Given the description of an element on the screen output the (x, y) to click on. 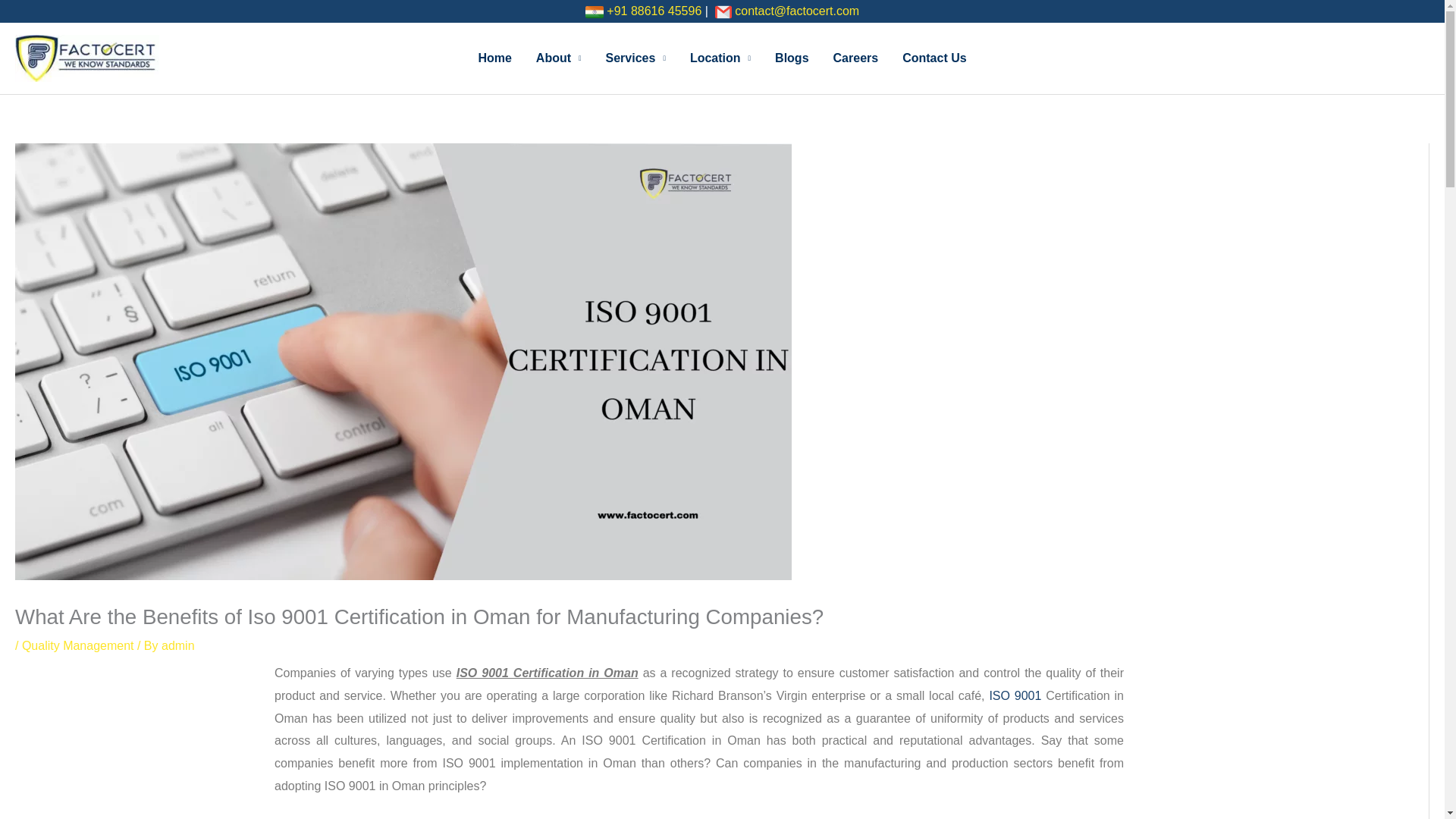
Services (636, 57)
About (559, 57)
Home (493, 57)
View all posts by admin (178, 645)
